Given the description of an element on the screen output the (x, y) to click on. 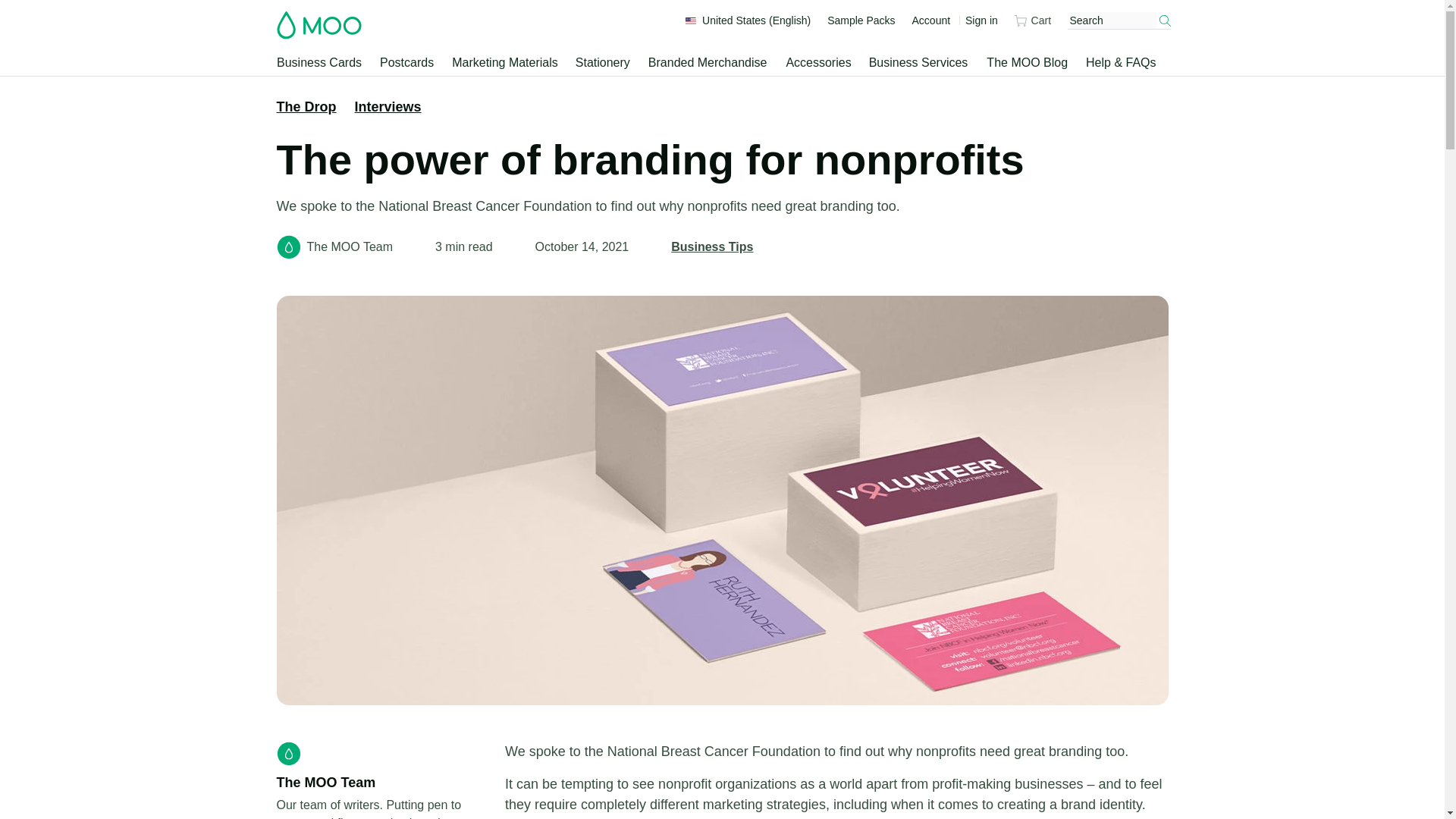
Business Cards (319, 63)
